Given the description of an element on the screen output the (x, y) to click on. 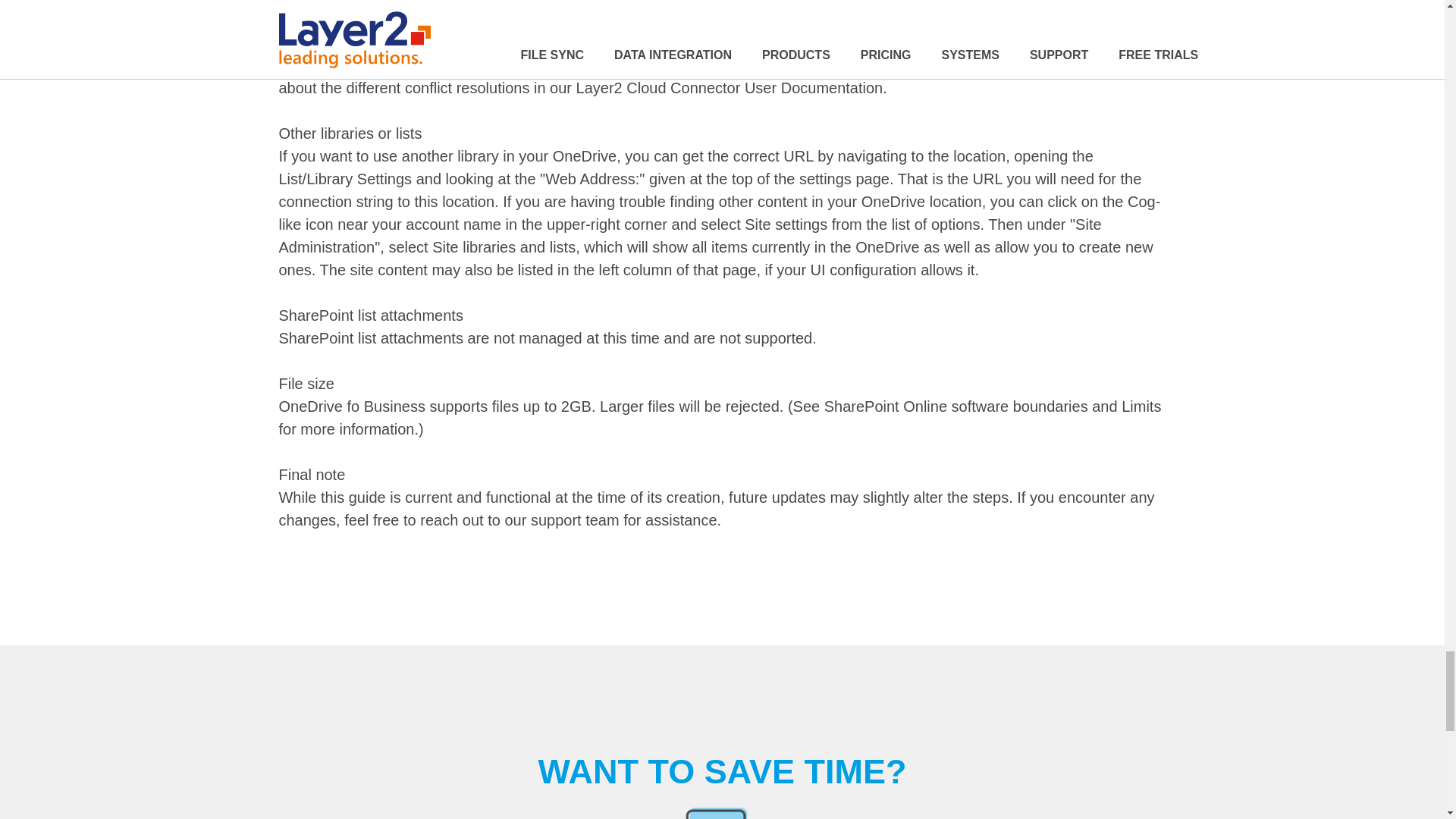
icon-CC-sign-up (722, 813)
